Given the description of an element on the screen output the (x, y) to click on. 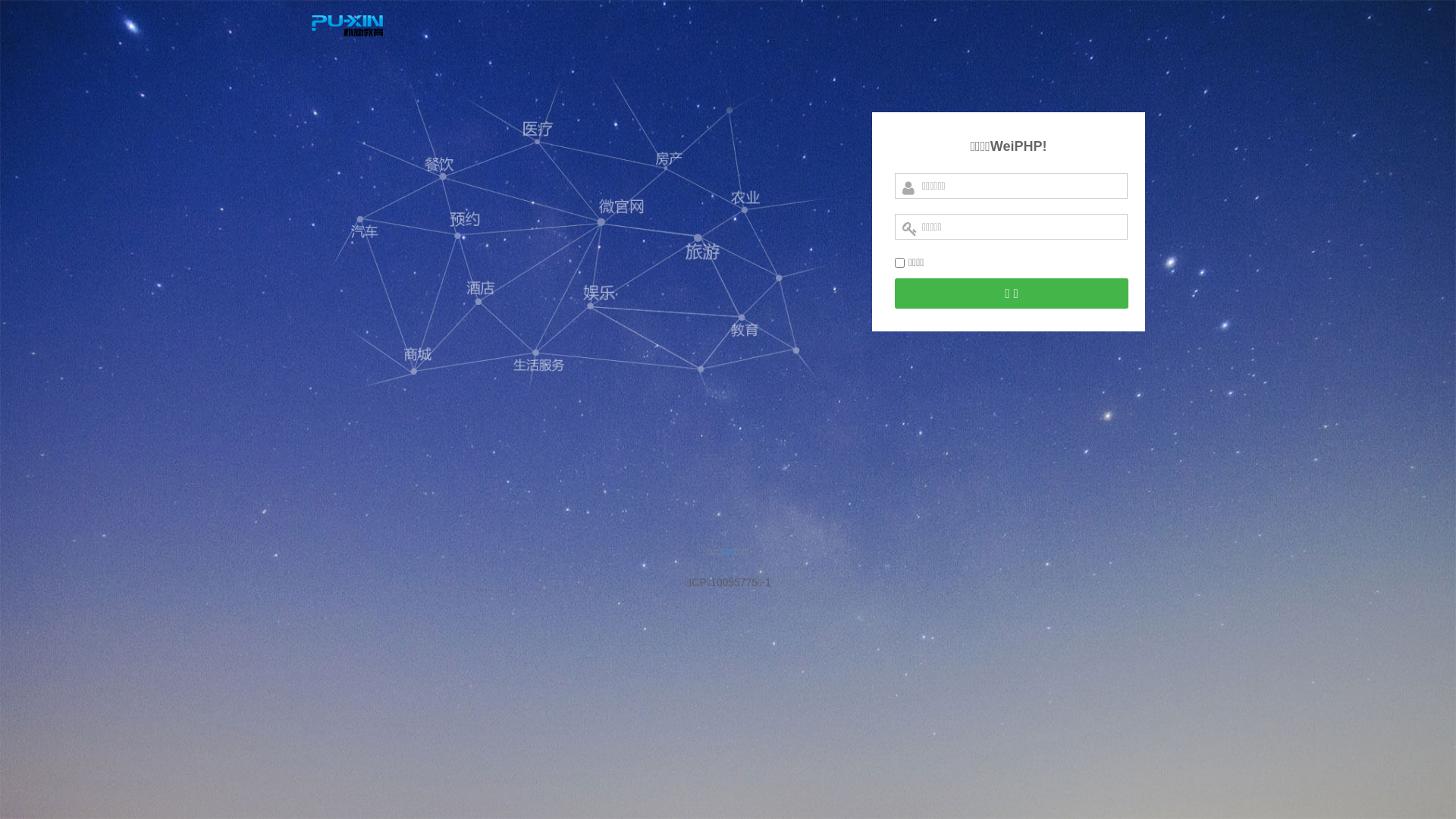
WeiPHP Element type: hover (347, 47)
